Given the description of an element on the screen output the (x, y) to click on. 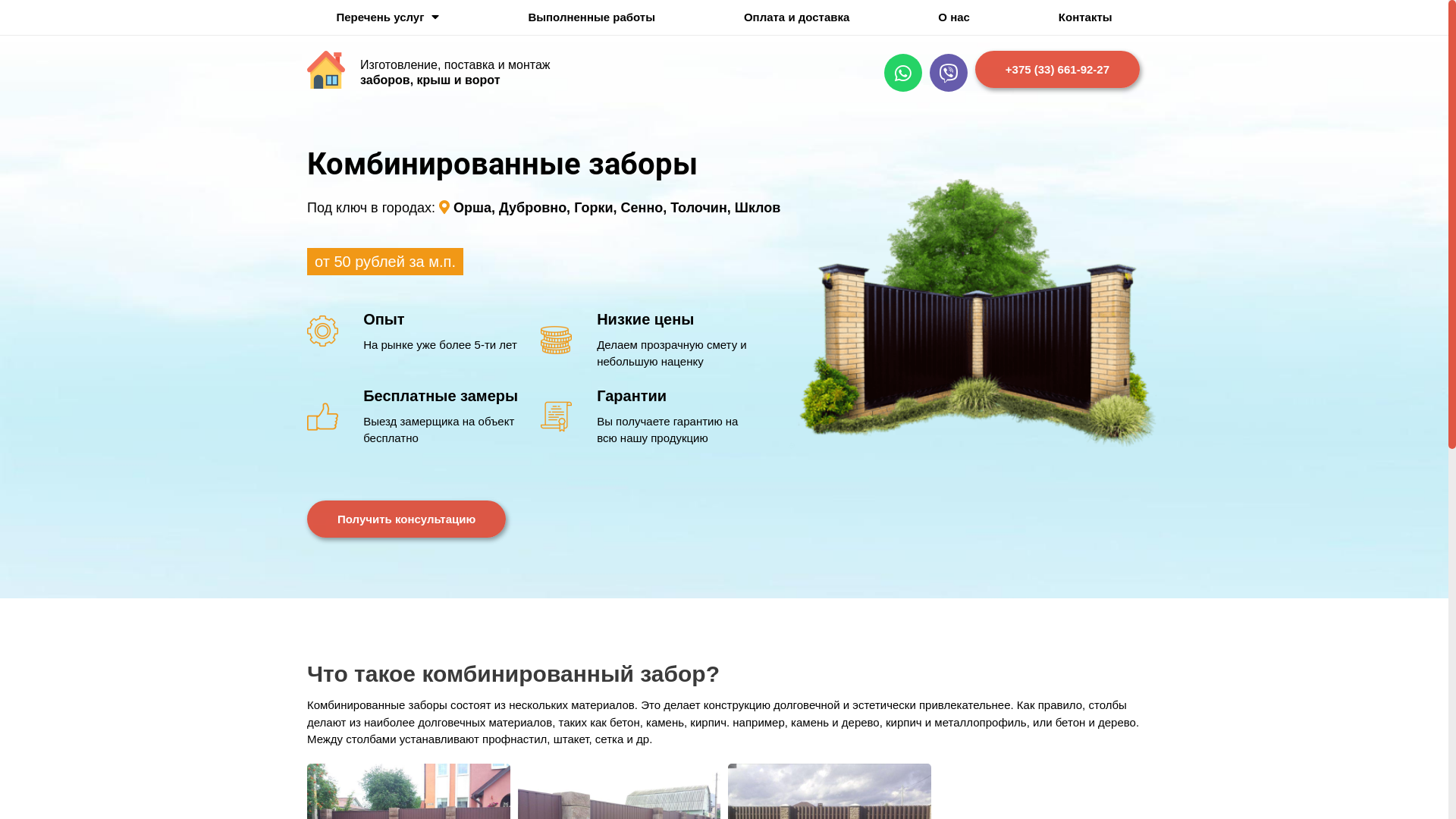
+375 (33) 661-92-27 Element type: text (1057, 69)
